Given the description of an element on the screen output the (x, y) to click on. 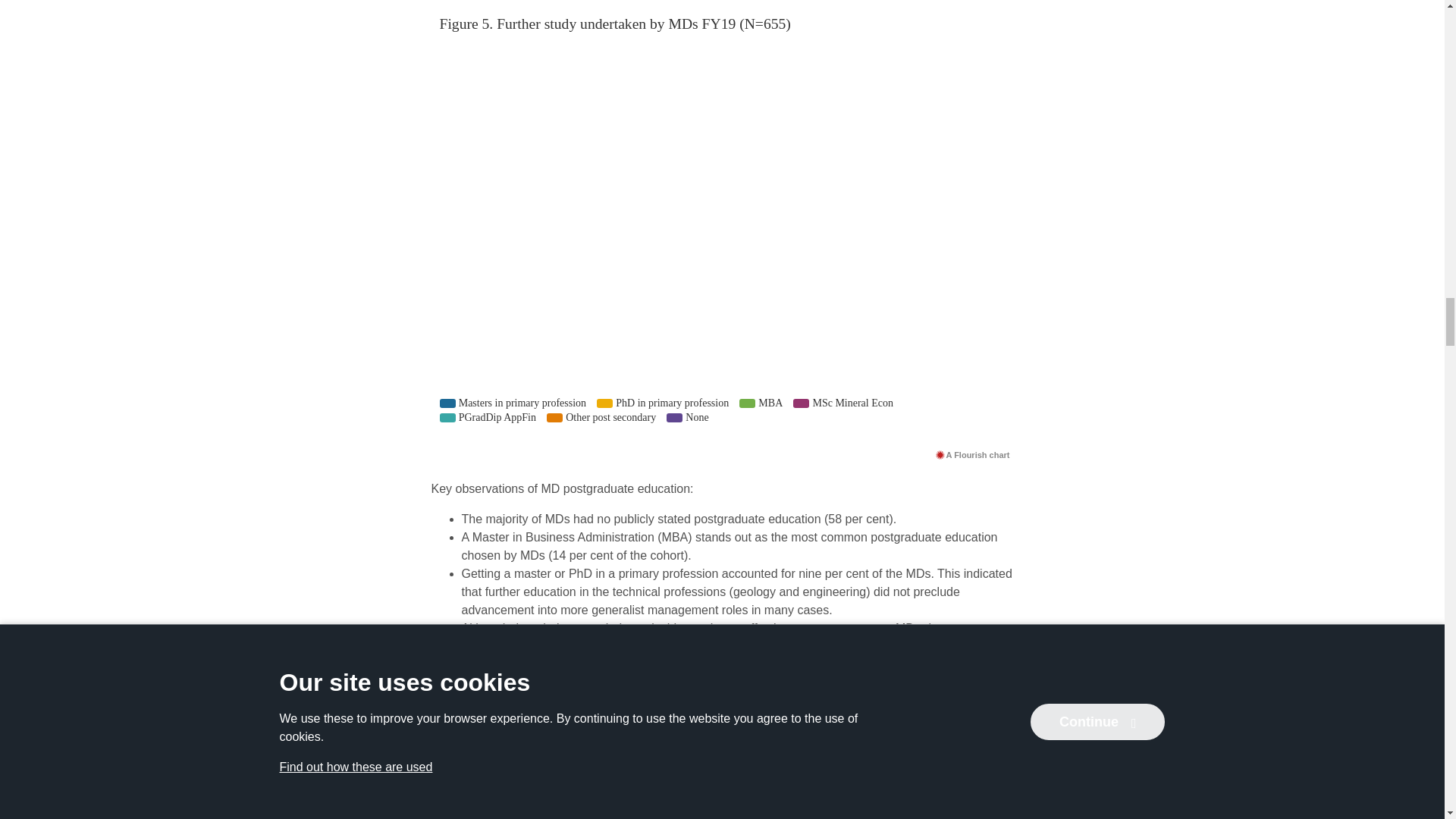
A Flourish chart (972, 454)
Interactive or visual content (721, 797)
